Given the description of an element on the screen output the (x, y) to click on. 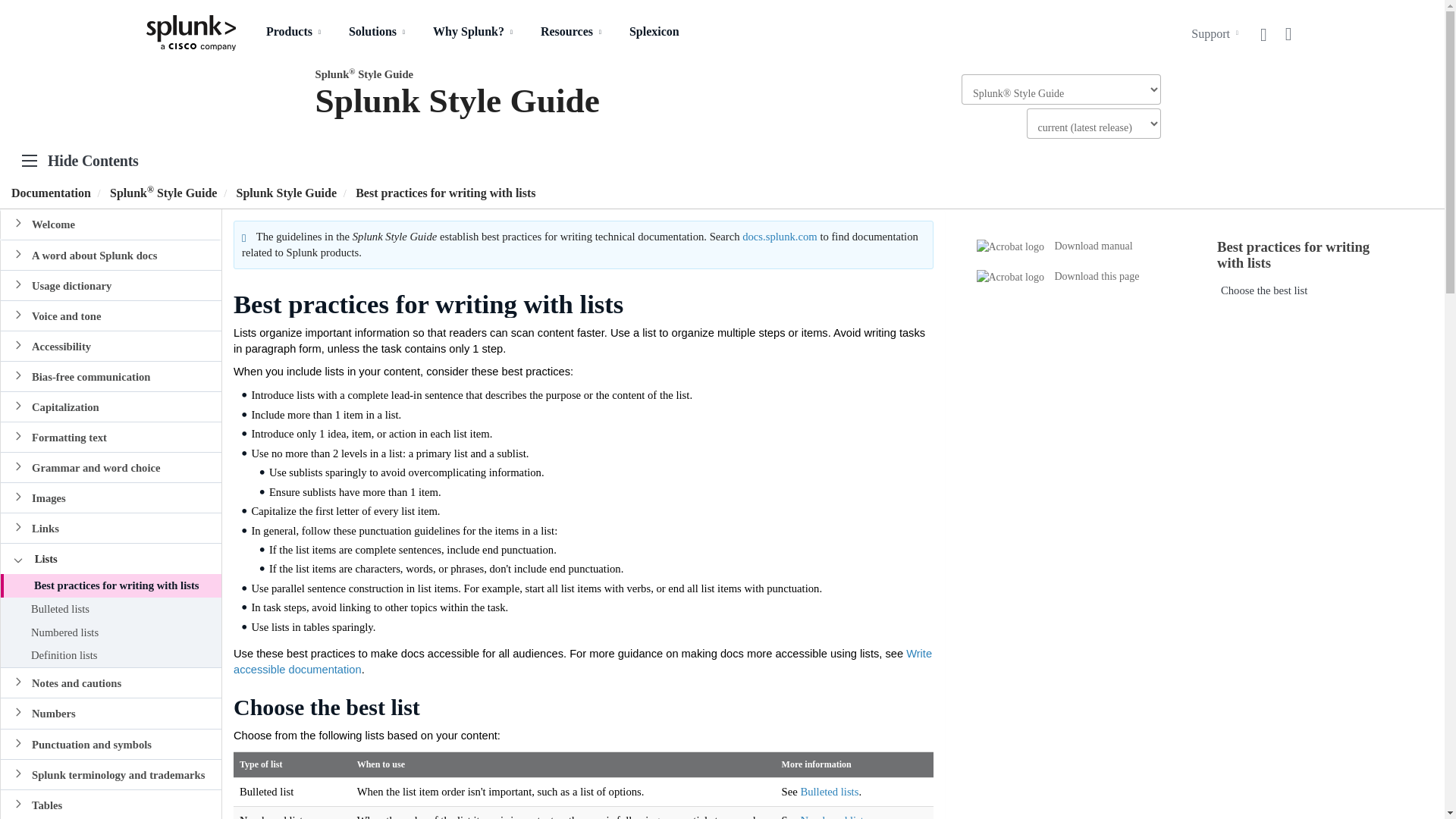
logo (191, 26)
Solutions (379, 39)
Products (295, 39)
